Given the description of an element on the screen output the (x, y) to click on. 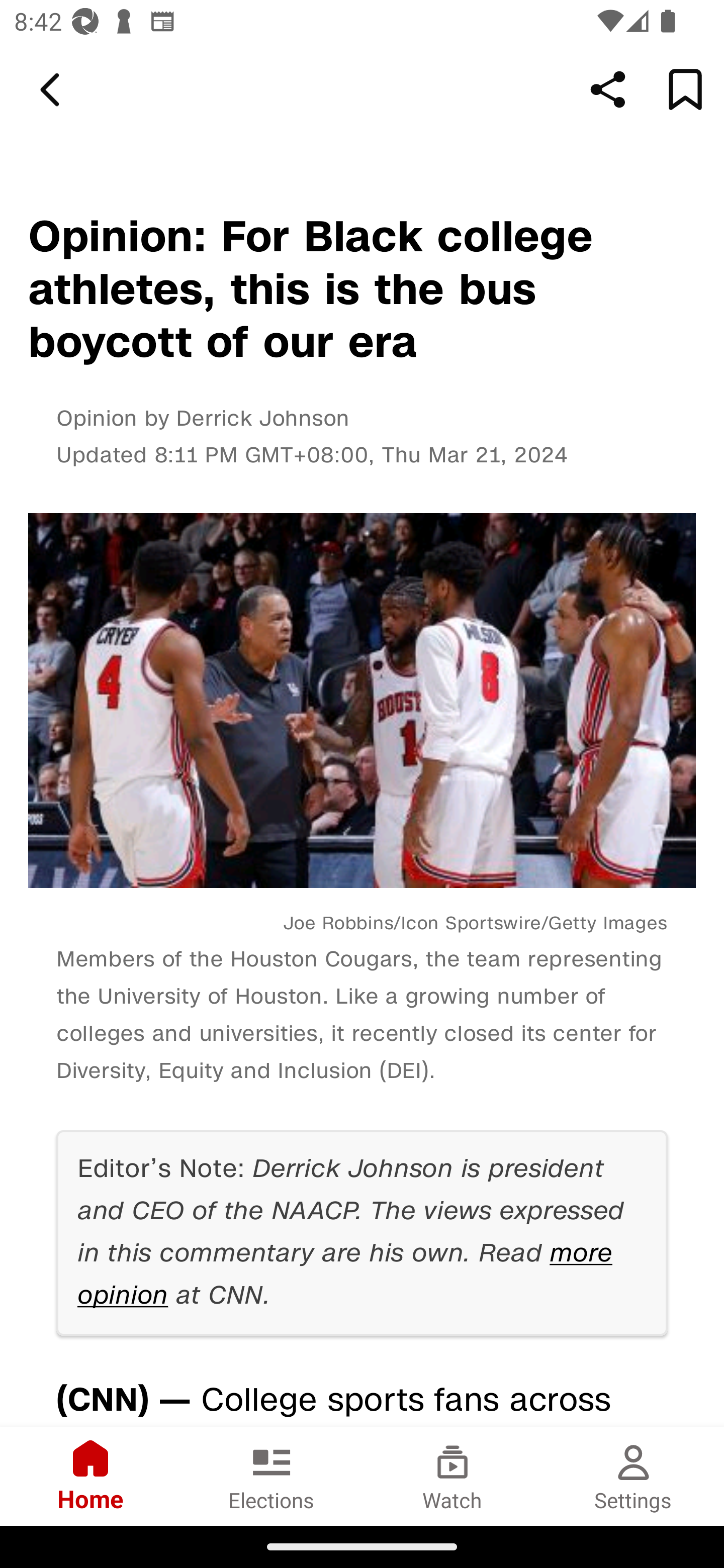
Back Button (52, 89)
Share (607, 89)
Bookmark (685, 89)
Elections (271, 1475)
Watch (452, 1475)
Settings (633, 1475)
